Given the description of an element on the screen output the (x, y) to click on. 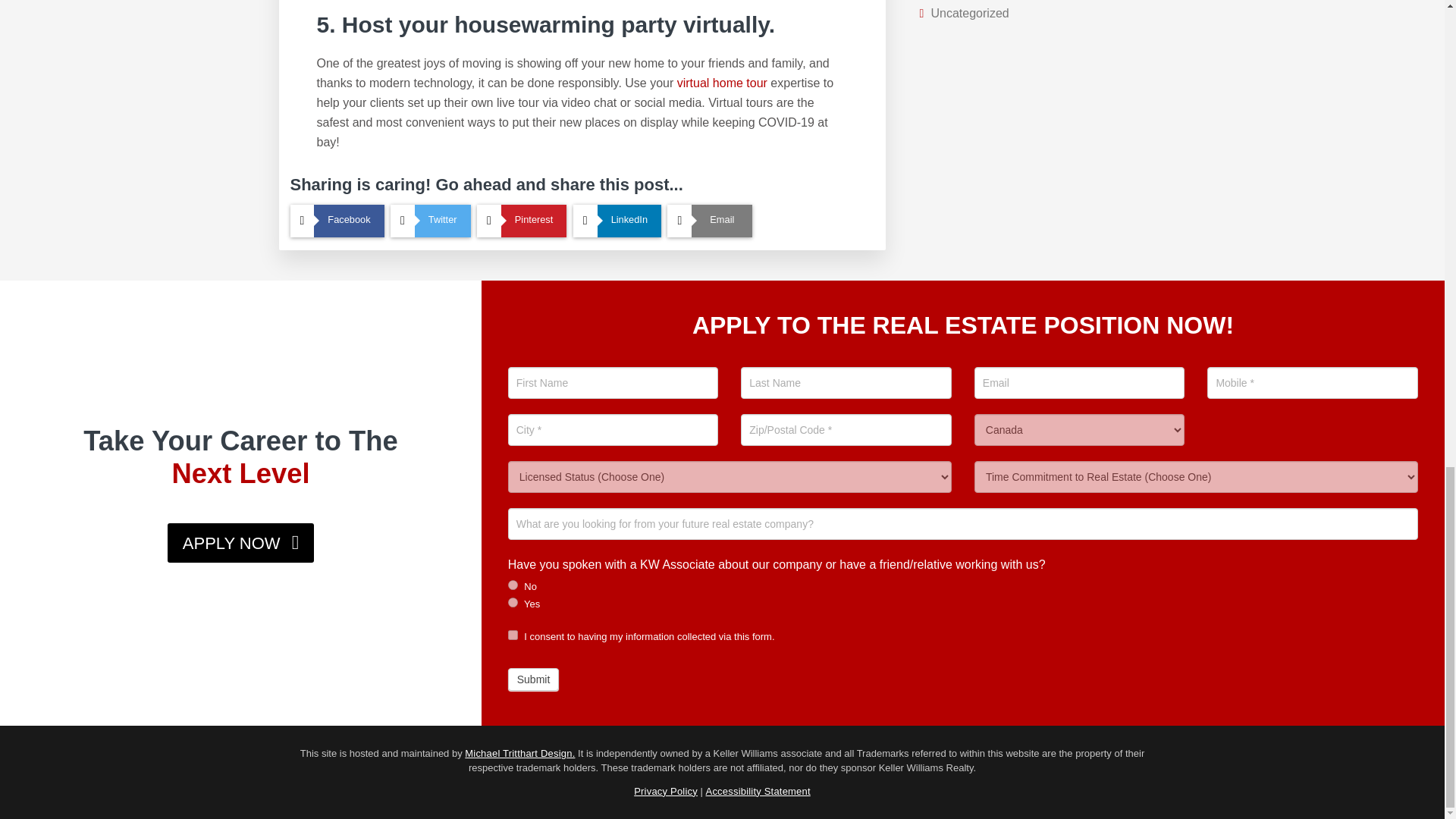
LinkedIn (617, 220)
Yes (513, 602)
Pinterest (521, 220)
No (513, 584)
virtual home tour (722, 82)
I consent to having my information collected via this form. (513, 634)
Facebook (336, 220)
Twitter (430, 220)
Email (709, 220)
